Given the description of an element on the screen output the (x, y) to click on. 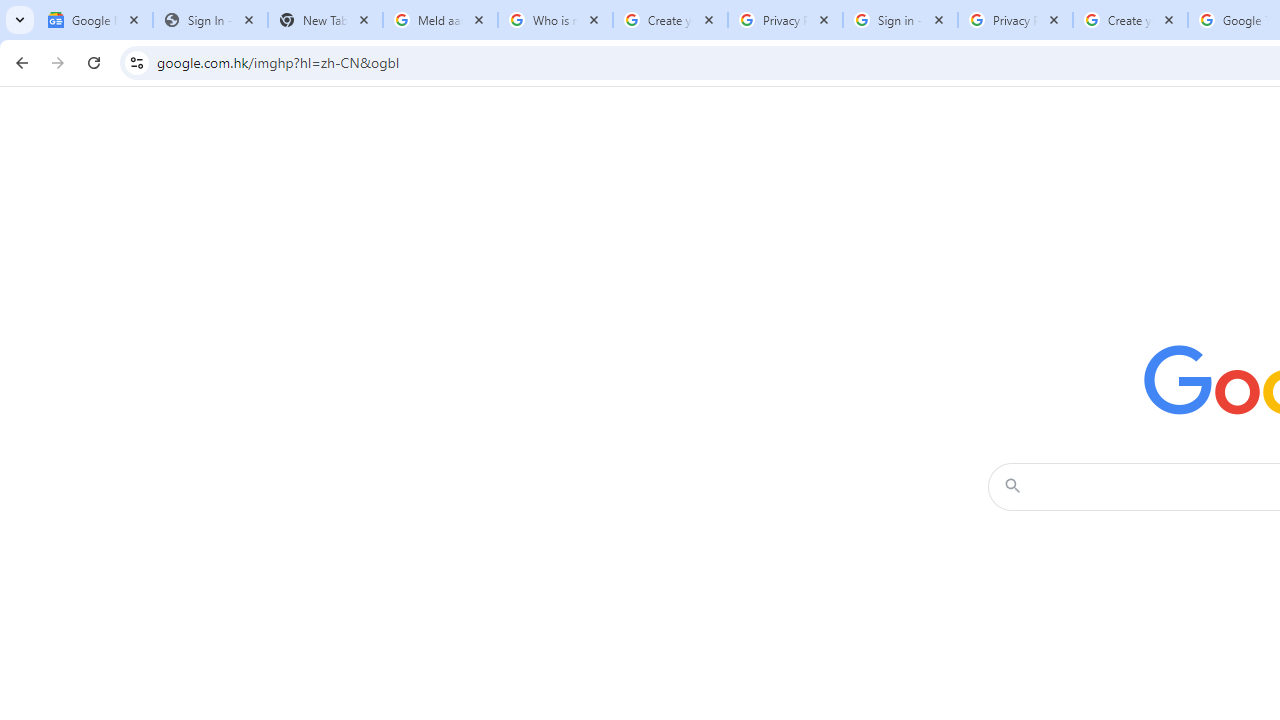
Sign in - Google Accounts (900, 20)
Create your Google Account (1129, 20)
Create your Google Account (670, 20)
New Tab (324, 20)
Sign In - USA TODAY (209, 20)
Who is my administrator? - Google Account Help (555, 20)
